Given the description of an element on the screen output the (x, y) to click on. 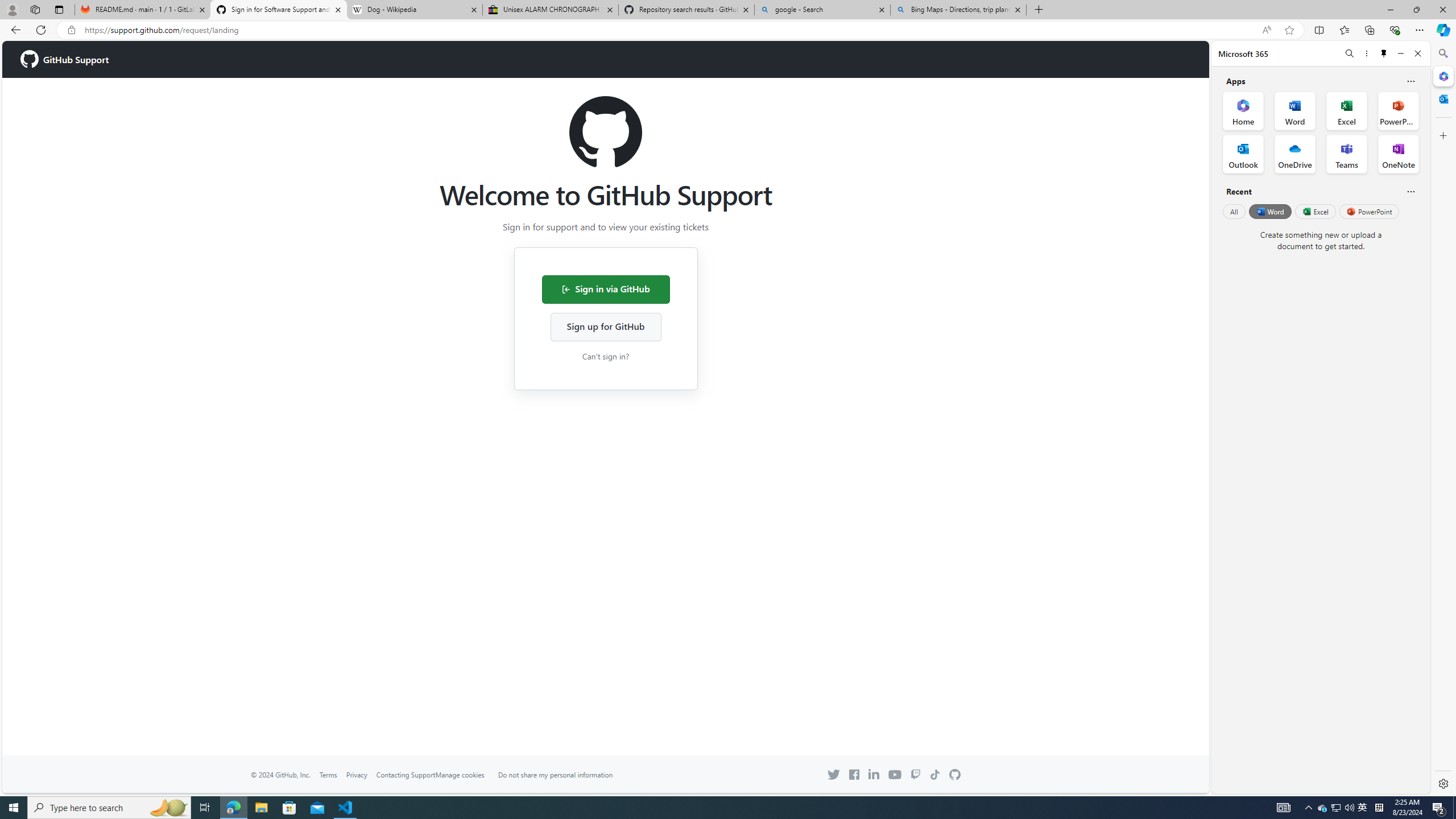
Dog - Wikipedia (414, 9)
Class: mr-3 (853, 774)
GitHub on Twitch (915, 774)
Word Office App (1295, 110)
Contacting Support (405, 773)
Word (1269, 210)
Twitter icon (833, 774)
All (1233, 210)
Contacting Support (405, 774)
YouTube icon GitHub on YouTube (894, 773)
